Given the description of an element on the screen output the (x, y) to click on. 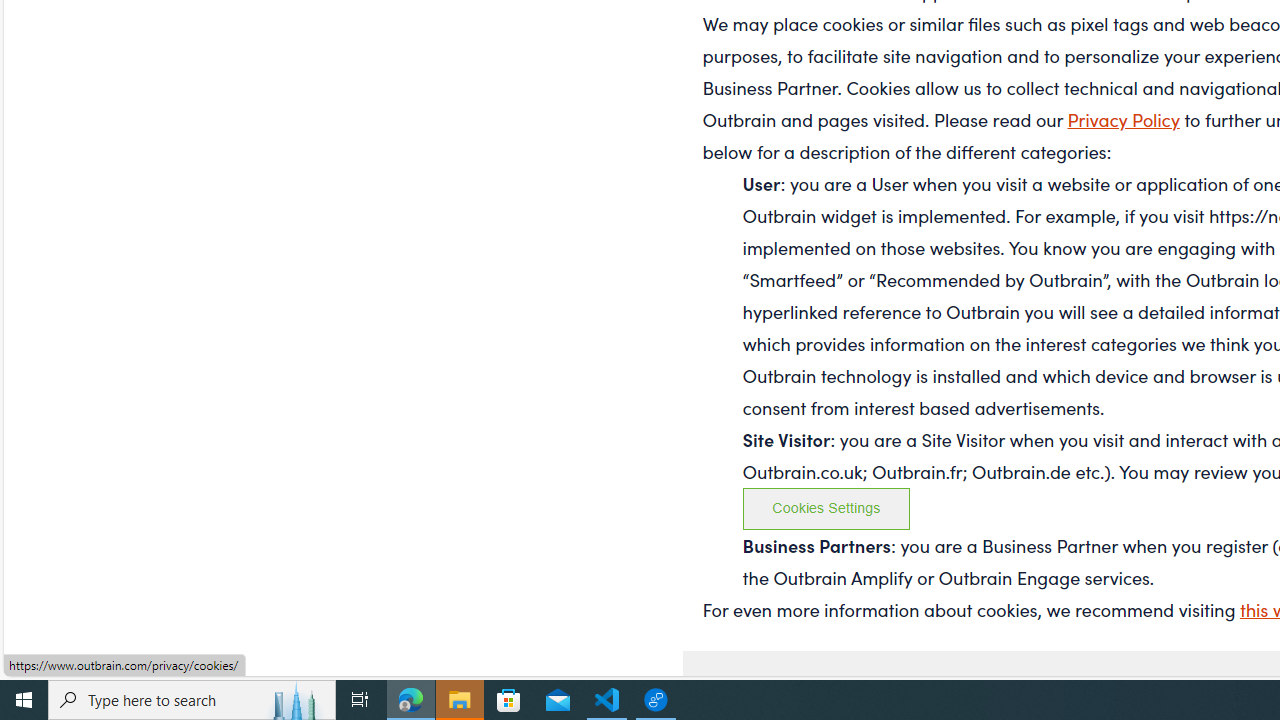
Cookies Settings (826, 508)
Privacy Policy (1123, 118)
